Given the description of an element on the screen output the (x, y) to click on. 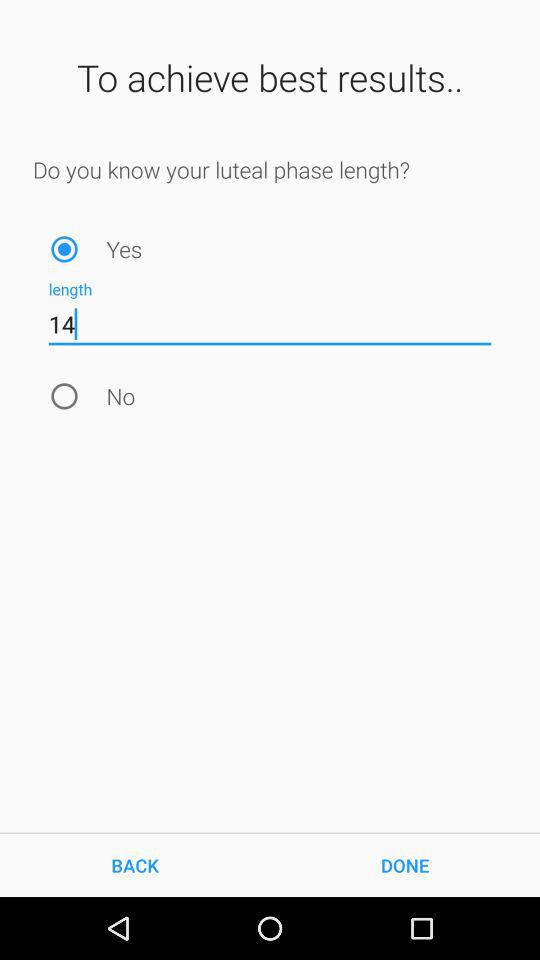
positive answer to the question (64, 248)
